Given the description of an element on the screen output the (x, y) to click on. 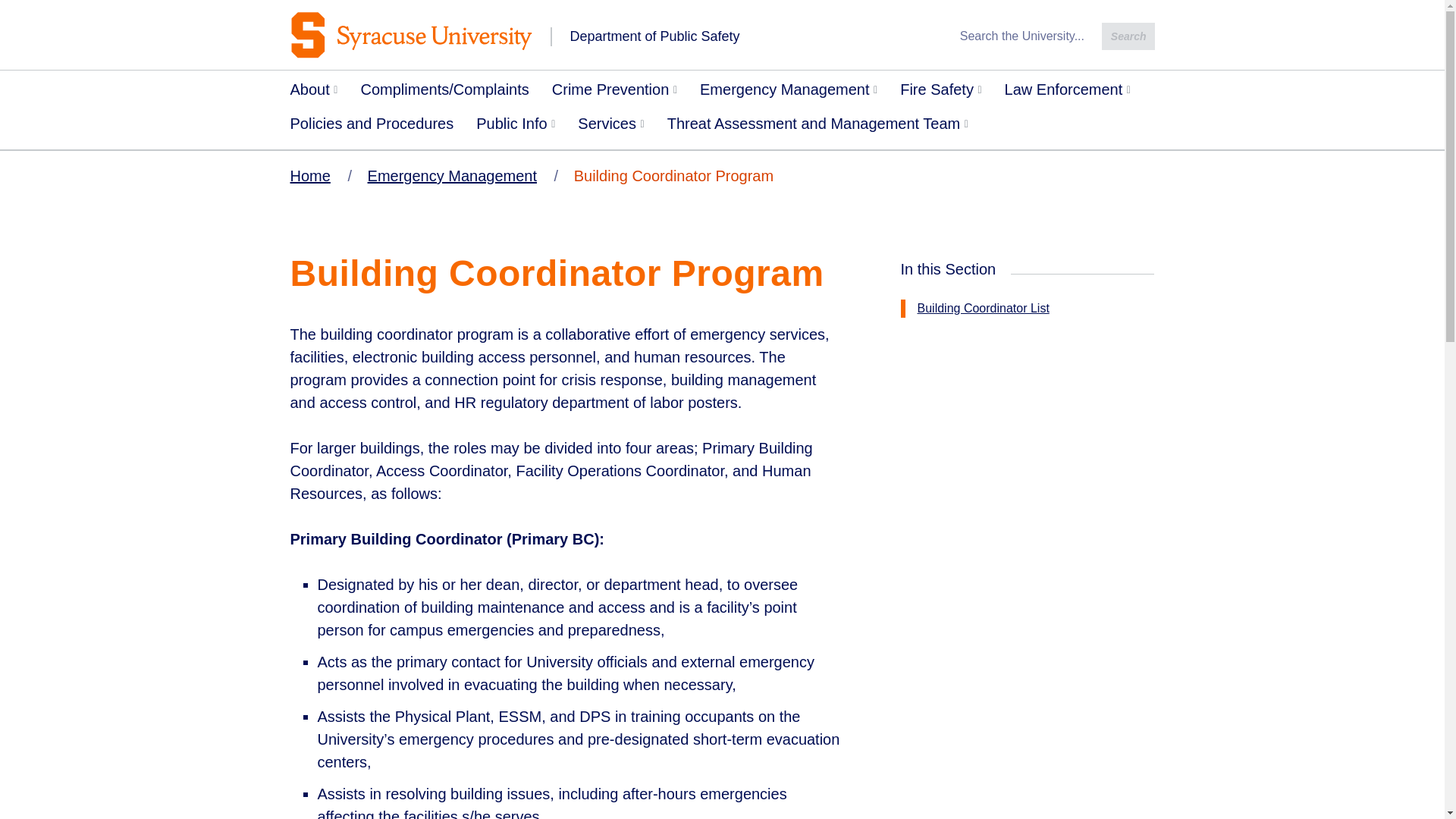
About (314, 92)
Crime Prevention (614, 92)
Search (1128, 35)
Department of Public Safety (614, 34)
Emergency Management (788, 92)
